Given the description of an element on the screen output the (x, y) to click on. 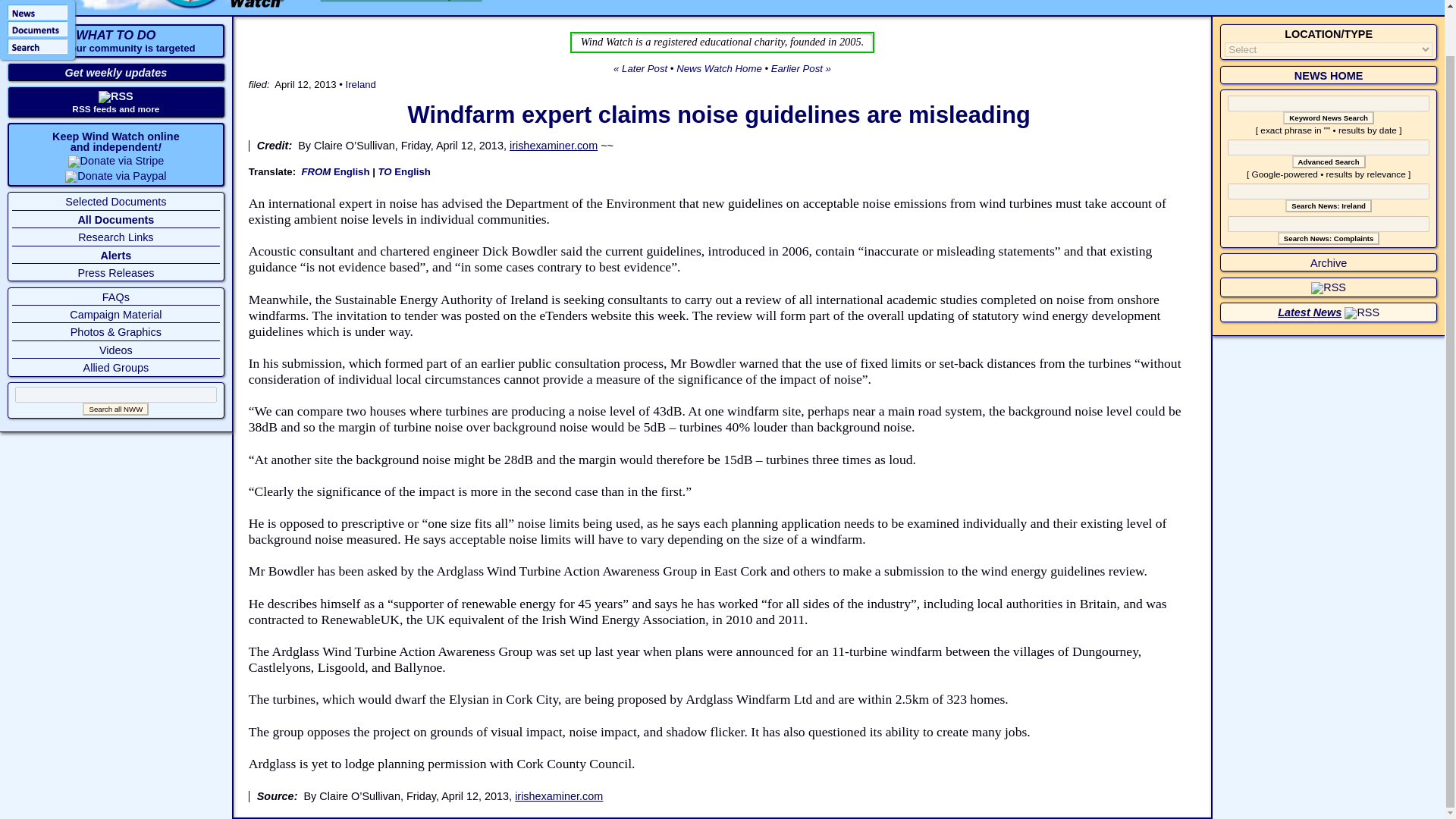
Videos (115, 349)
Research Links (115, 236)
Search News: Ireland (1328, 205)
Wind Watch RSS Feeds (116, 96)
Advanced Search (1328, 161)
Search all NWW (115, 408)
Alerts (115, 255)
View News Watch Feed (1360, 312)
Keep Wind Watch online and independent! (115, 141)
News Watch Home (719, 68)
